Given the description of an element on the screen output the (x, y) to click on. 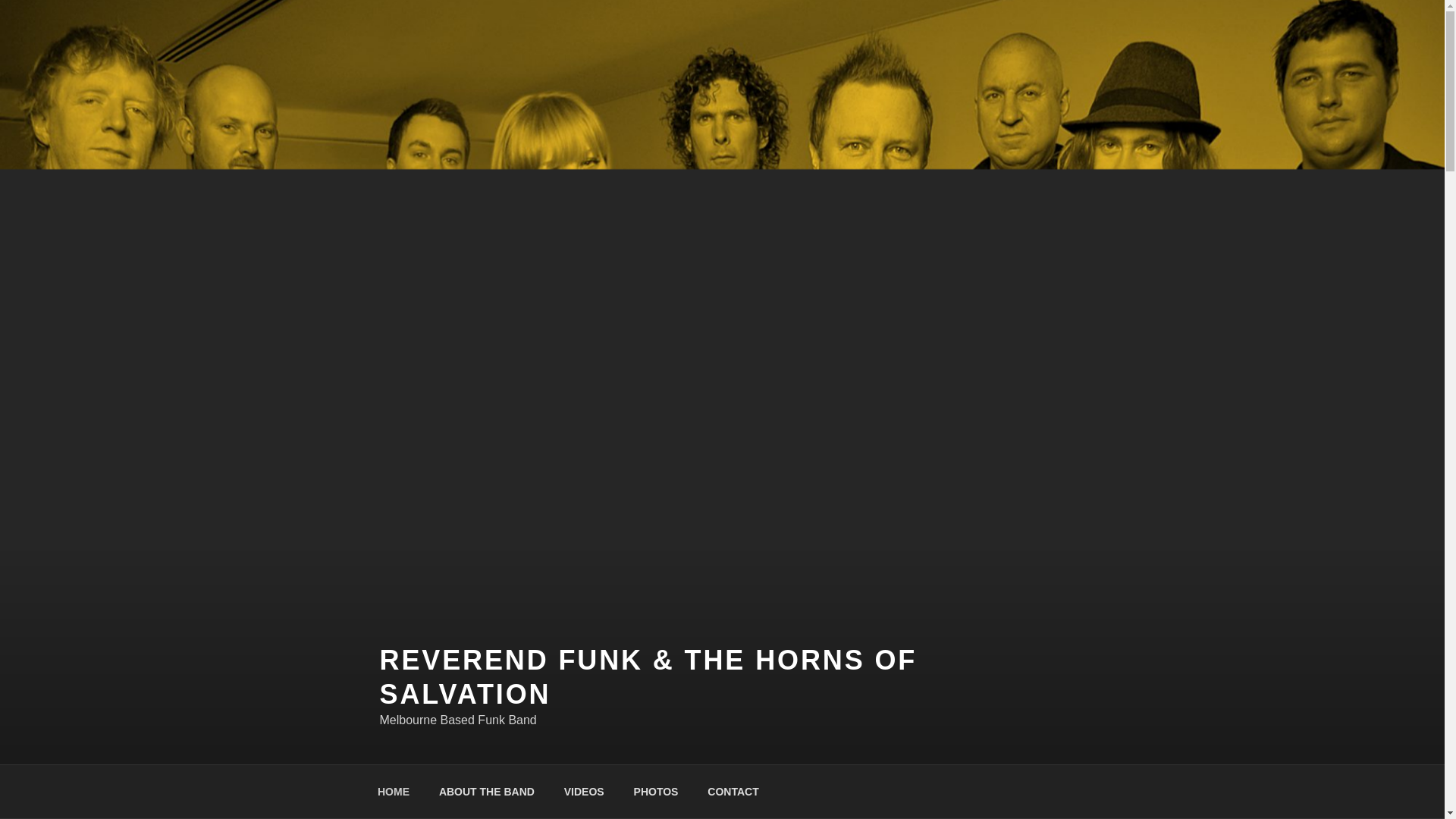
ABOUT THE BAND (486, 791)
PHOTOS (655, 791)
VIDEOS (583, 791)
CONTACT (732, 791)
HOME (393, 791)
